Given the description of an element on the screen output the (x, y) to click on. 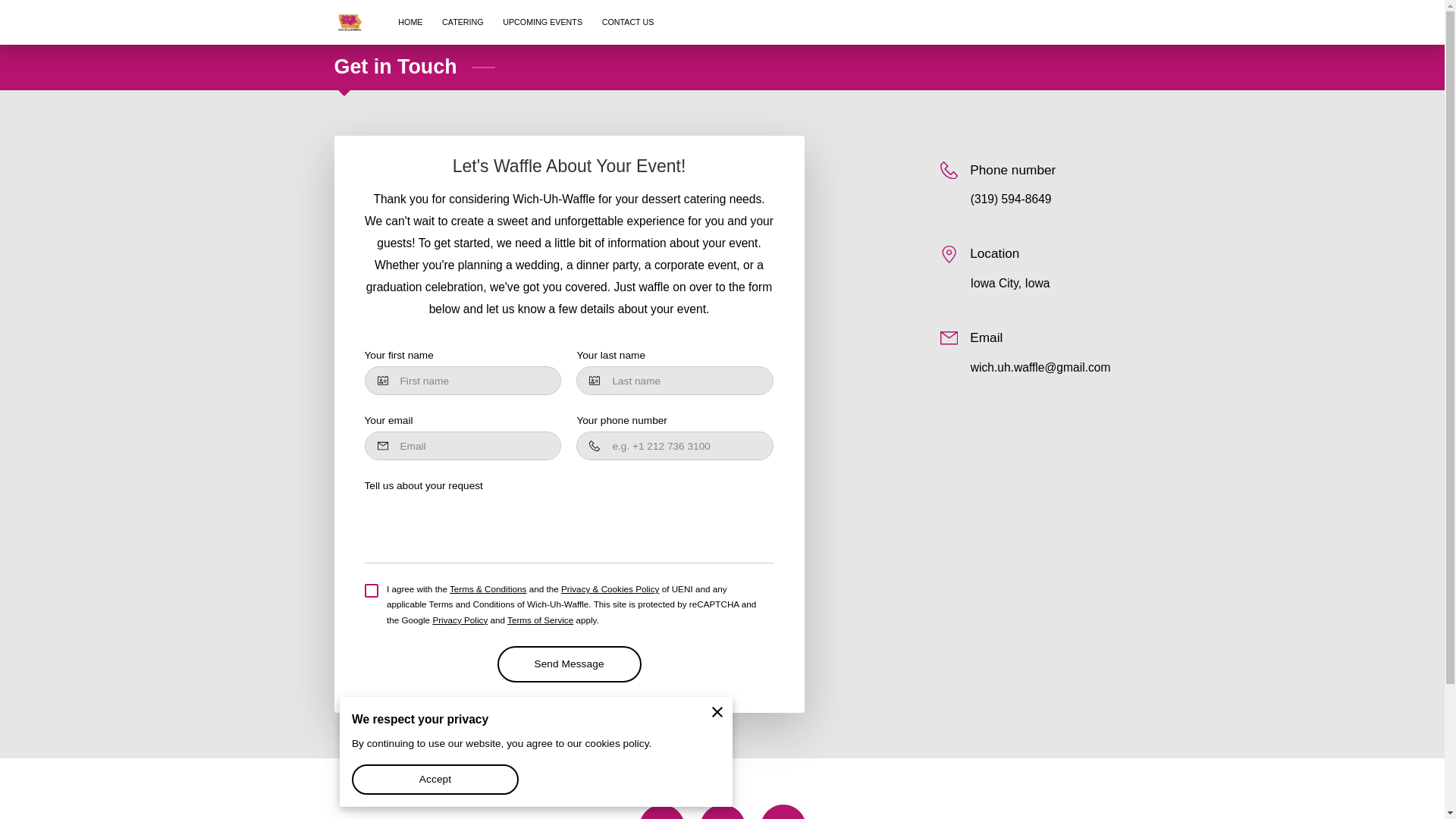
CONTACT US (627, 21)
CATERING (462, 21)
Iowa City, Iowa (1010, 283)
HOME (410, 21)
Terms of Service (539, 619)
UPCOMING EVENTS (542, 21)
Privacy Policy (459, 619)
Send Message (569, 664)
Accept (435, 779)
